Given the description of an element on the screen output the (x, y) to click on. 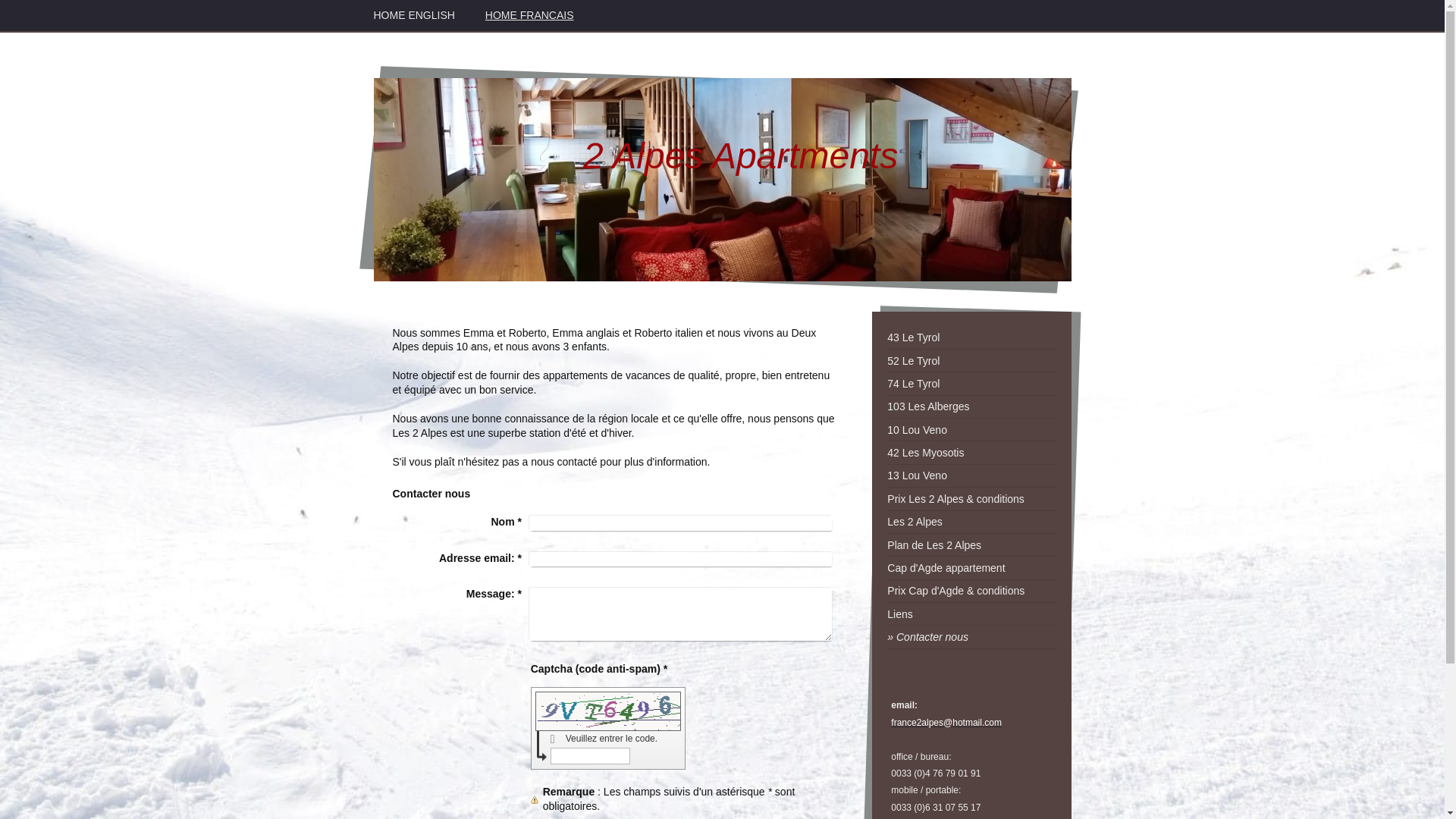
france2alpes@hotmail.com Element type: text (946, 722)
74 Le Tyrol Element type: text (971, 383)
Liens Element type: text (971, 613)
Prix Les 2 Alpes & conditions Element type: text (971, 498)
13 Lou Veno Element type: text (971, 475)
Contacter nous Element type: text (971, 636)
52 Le Tyrol Element type: text (971, 360)
10 Lou Veno Element type: text (971, 429)
42 Les Myosotis Element type: text (971, 452)
103 Les Alberges Element type: text (971, 406)
Plan de Les 2 Alpes Element type: text (971, 544)
HOME ENGLISH Element type: text (413, 15)
Prix Cap d'Agde & conditions Element type: text (971, 591)
43 Le Tyrol Element type: text (971, 337)
HOME FRANCAIS Element type: text (529, 15)
Cap d'Agde appartement Element type: text (971, 567)
Les 2 Alpes Element type: text (971, 522)
